Given the description of an element on the screen output the (x, y) to click on. 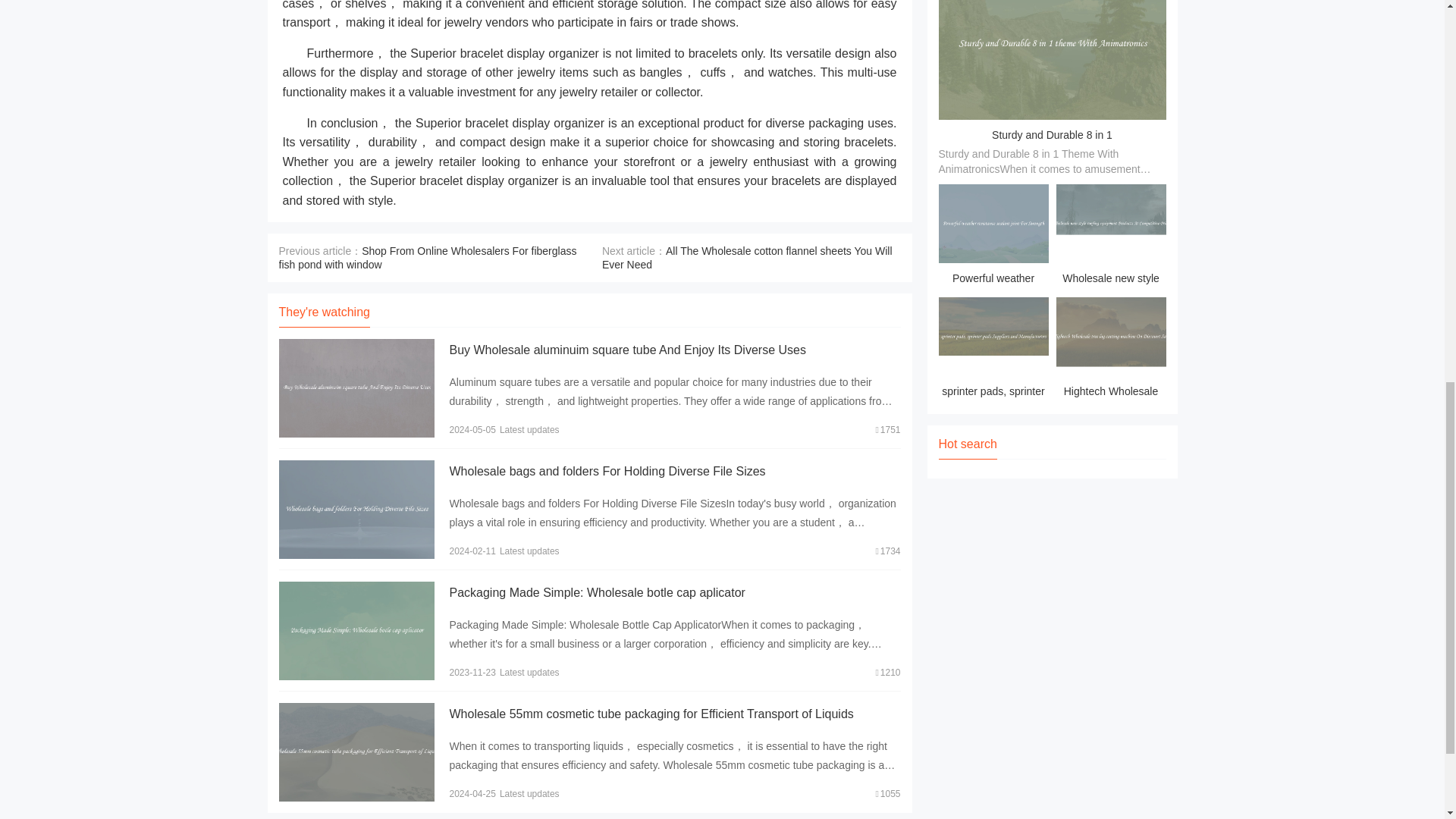
Hightech Wholesale tree log cutting machine On Discount Sale (1110, 349)
Wholesale bags and folders For Holding Diverse File Sizes (606, 470)
sprinter pads, sprinter pads Suppliers and Manufacturers (993, 349)
Powerful weather resistance sealant joint For Strength (993, 236)
Sturdy and Durable 8 in 1 theme With Animatronics (1051, 145)
All The Wholesale cotton flannel sheets You Will Ever Need (747, 257)
